Given the description of an element on the screen output the (x, y) to click on. 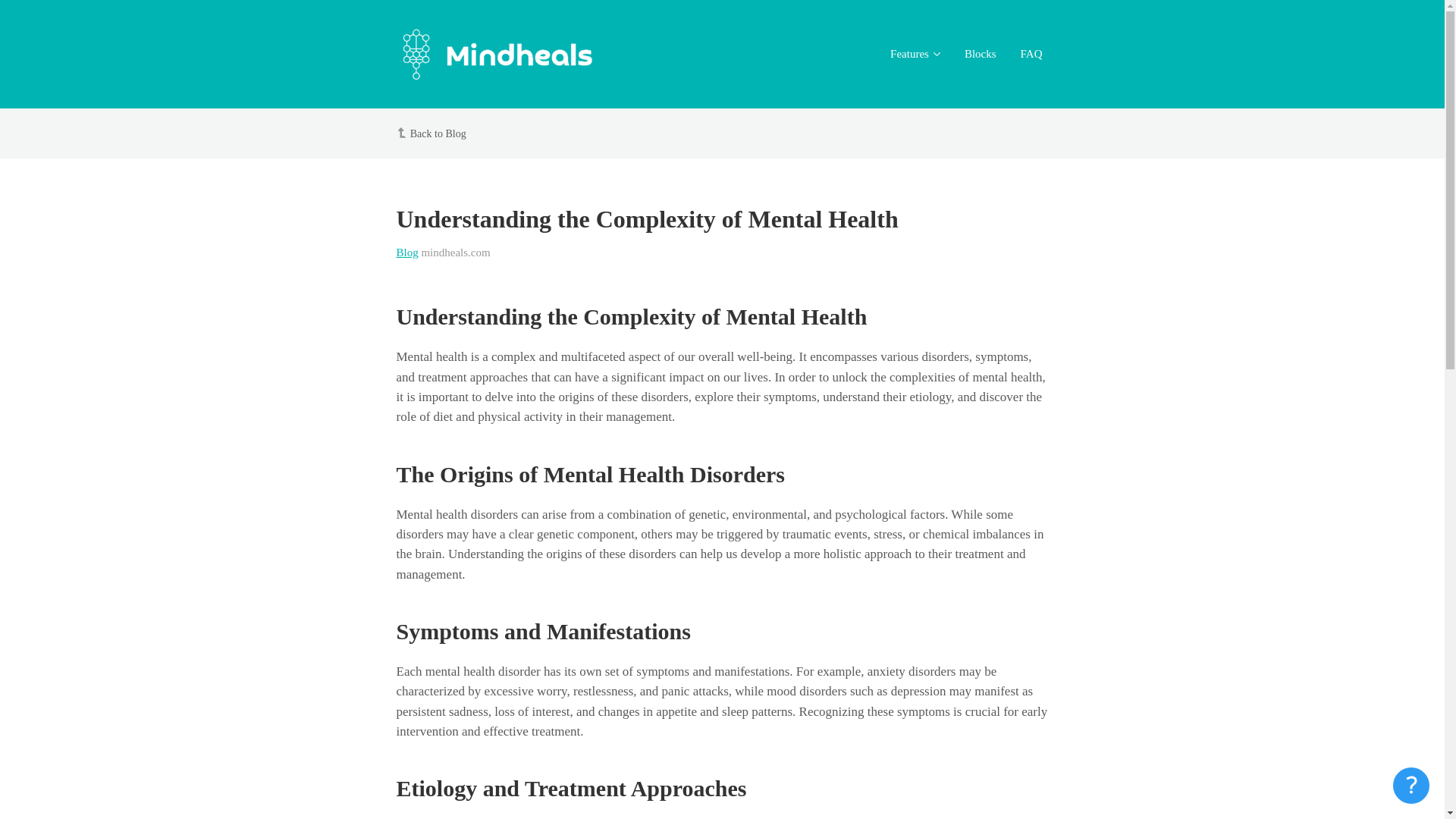
Features (914, 54)
Blocks (980, 54)
Back to Blog (437, 133)
Blog (406, 252)
FAQ (1031, 54)
